Given the description of an element on the screen output the (x, y) to click on. 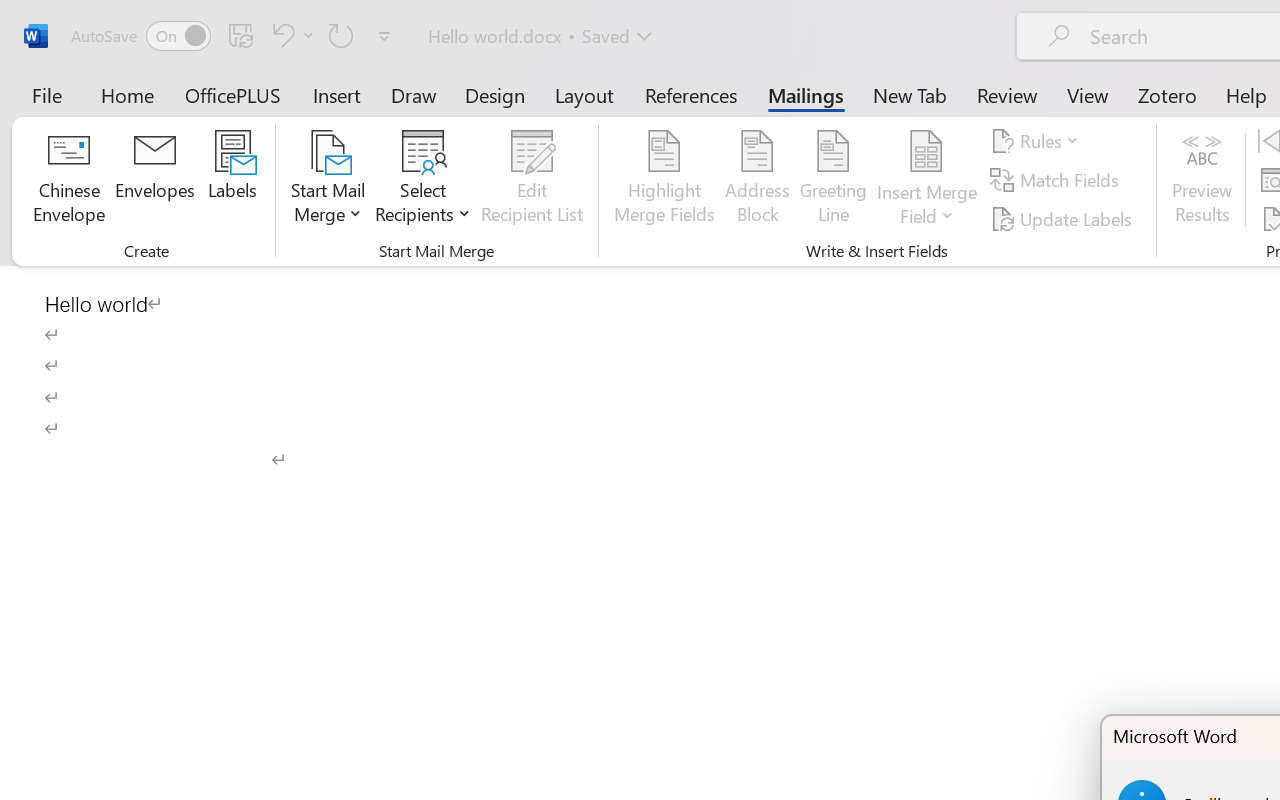
Zotero (1166, 94)
Home (127, 94)
Edit Recipient List... (532, 179)
Preview Results (1202, 179)
Chinese Envelope... (68, 179)
Undo Click and Type Formatting (280, 35)
References (690, 94)
More Options (927, 208)
OfficePLUS (233, 94)
Highlight Merge Fields (664, 179)
Insert Merge Field (927, 179)
Select Recipients (423, 179)
